Given the description of an element on the screen output the (x, y) to click on. 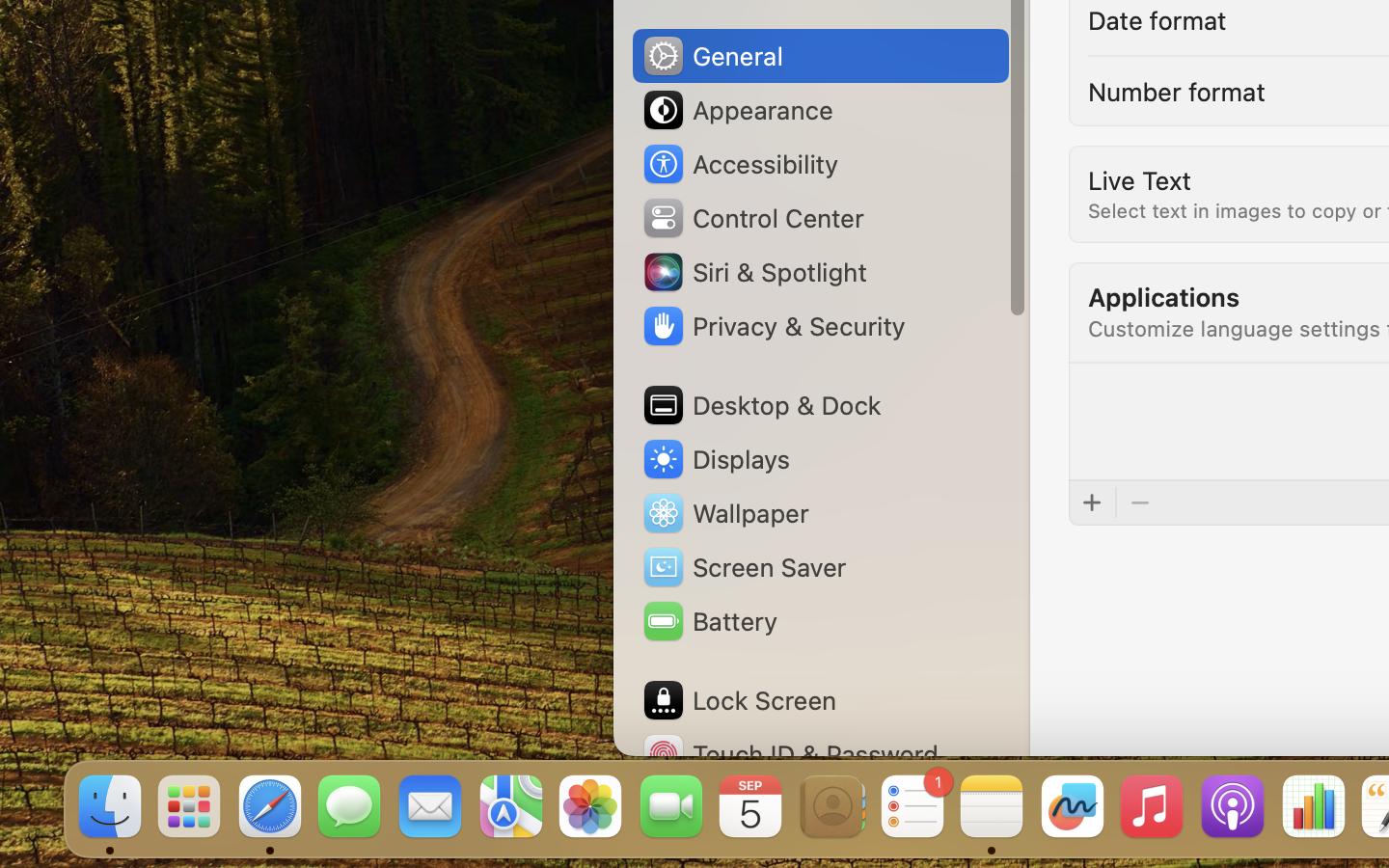
Battery Element type: AXStaticText (708, 620)
